Given the description of an element on the screen output the (x, y) to click on. 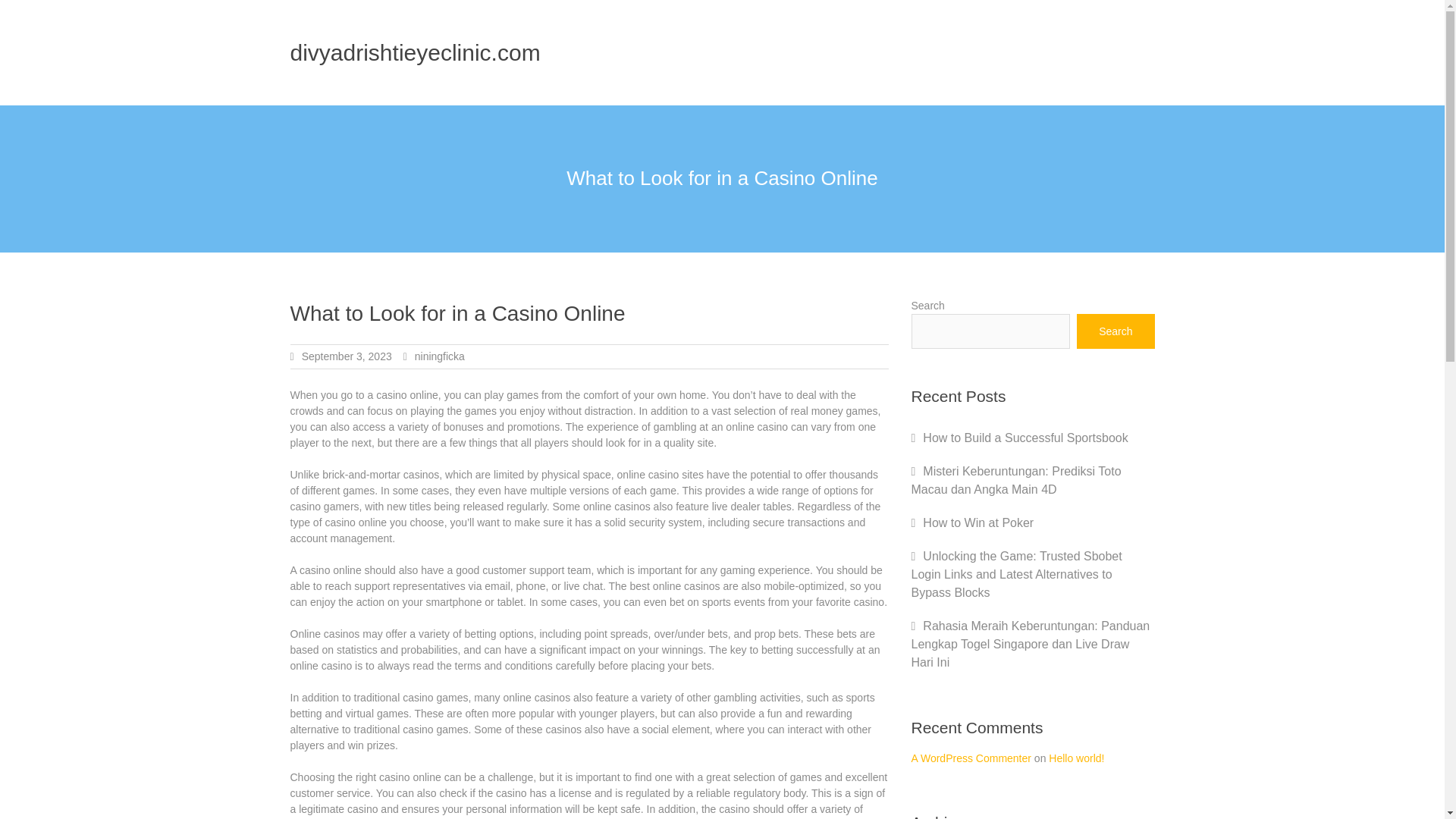
divyadrishtieyeclinic.com (414, 52)
Hello world! (1075, 758)
How to Win at Poker (978, 522)
A WordPress Commenter (970, 758)
How to Build a Successful Sportsbook (1024, 437)
niningficka (439, 356)
Misteri Keberuntungan: Prediksi Toto Macau dan Angka Main 4D (1016, 480)
Search (1115, 330)
September 3, 2023 (346, 356)
